Given the description of an element on the screen output the (x, y) to click on. 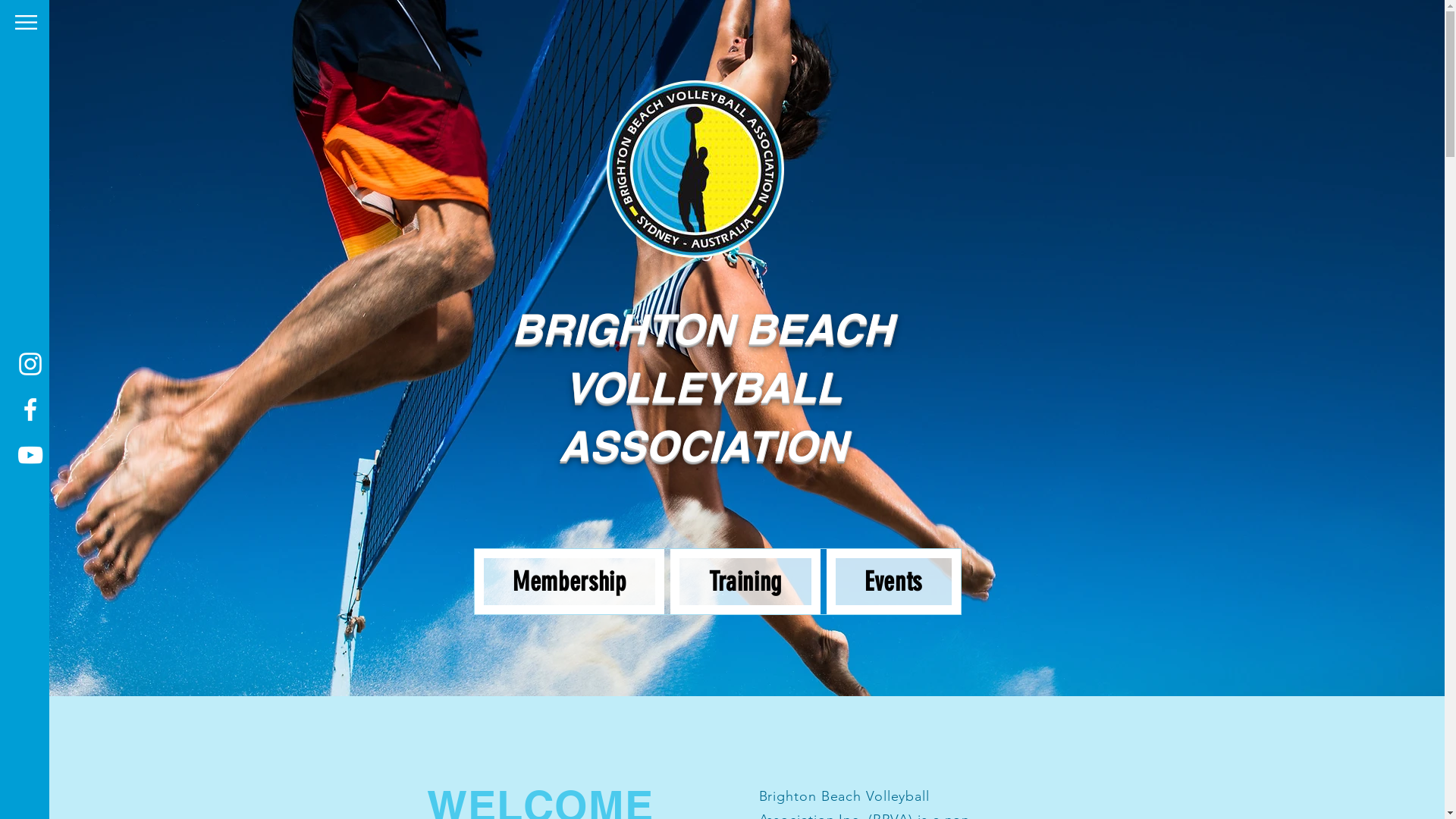
Membership Element type: text (569, 581)
BBVA.png Element type: hover (695, 169)
Events Element type: text (893, 581)
Training Element type: text (744, 581)
